Given the description of an element on the screen output the (x, y) to click on. 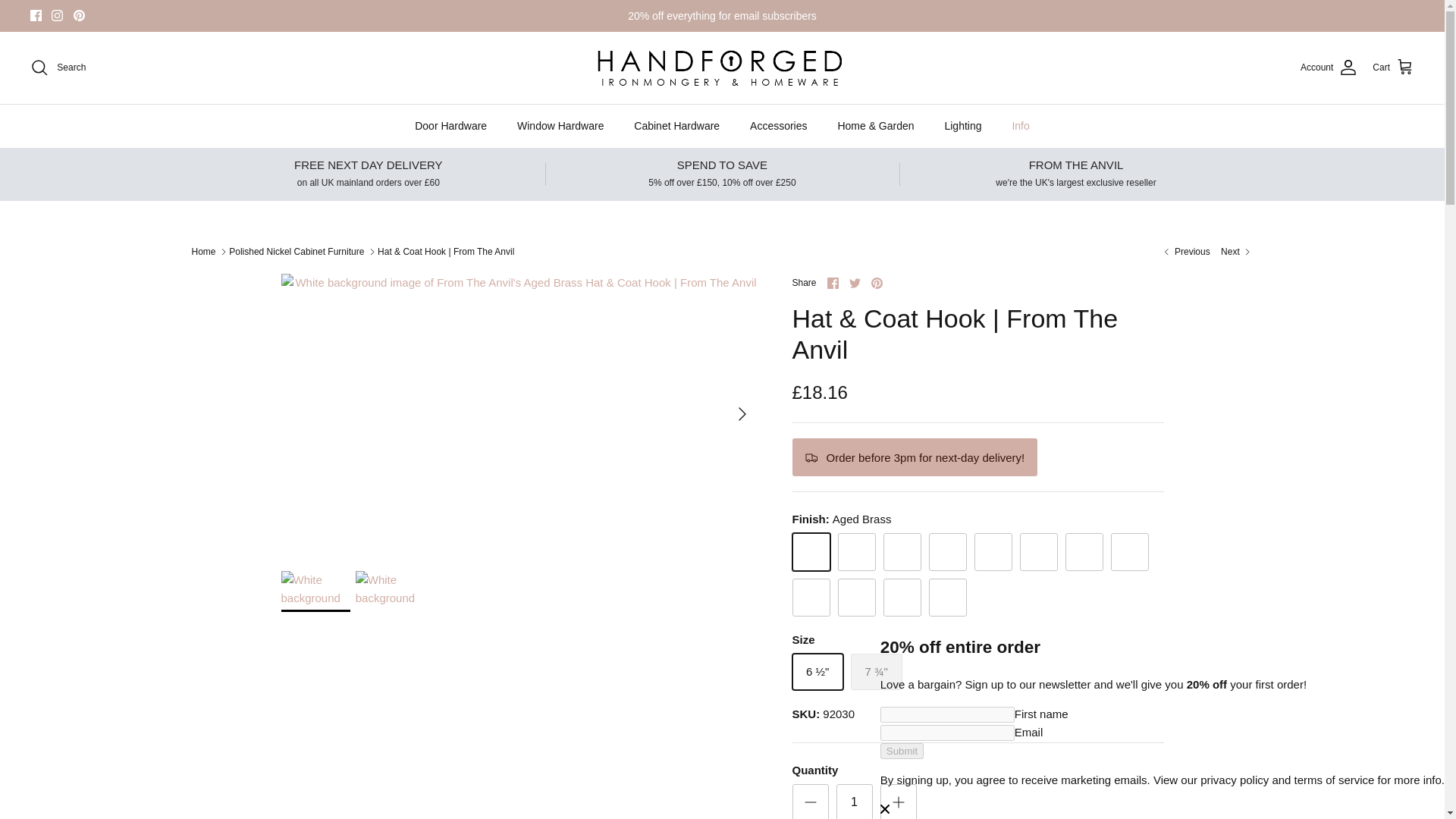
Instagram (56, 15)
RIGHT (741, 413)
Window Hardware (560, 126)
Pinterest (876, 283)
Search (57, 67)
Facebook (36, 15)
Cart (1393, 66)
Instagram (56, 15)
Door Hardware (450, 126)
Pinterest (79, 15)
Twitter (854, 283)
Pinterest (79, 15)
Facebook (36, 15)
Emails (721, 15)
Hand Forged (721, 67)
